Given the description of an element on the screen output the (x, y) to click on. 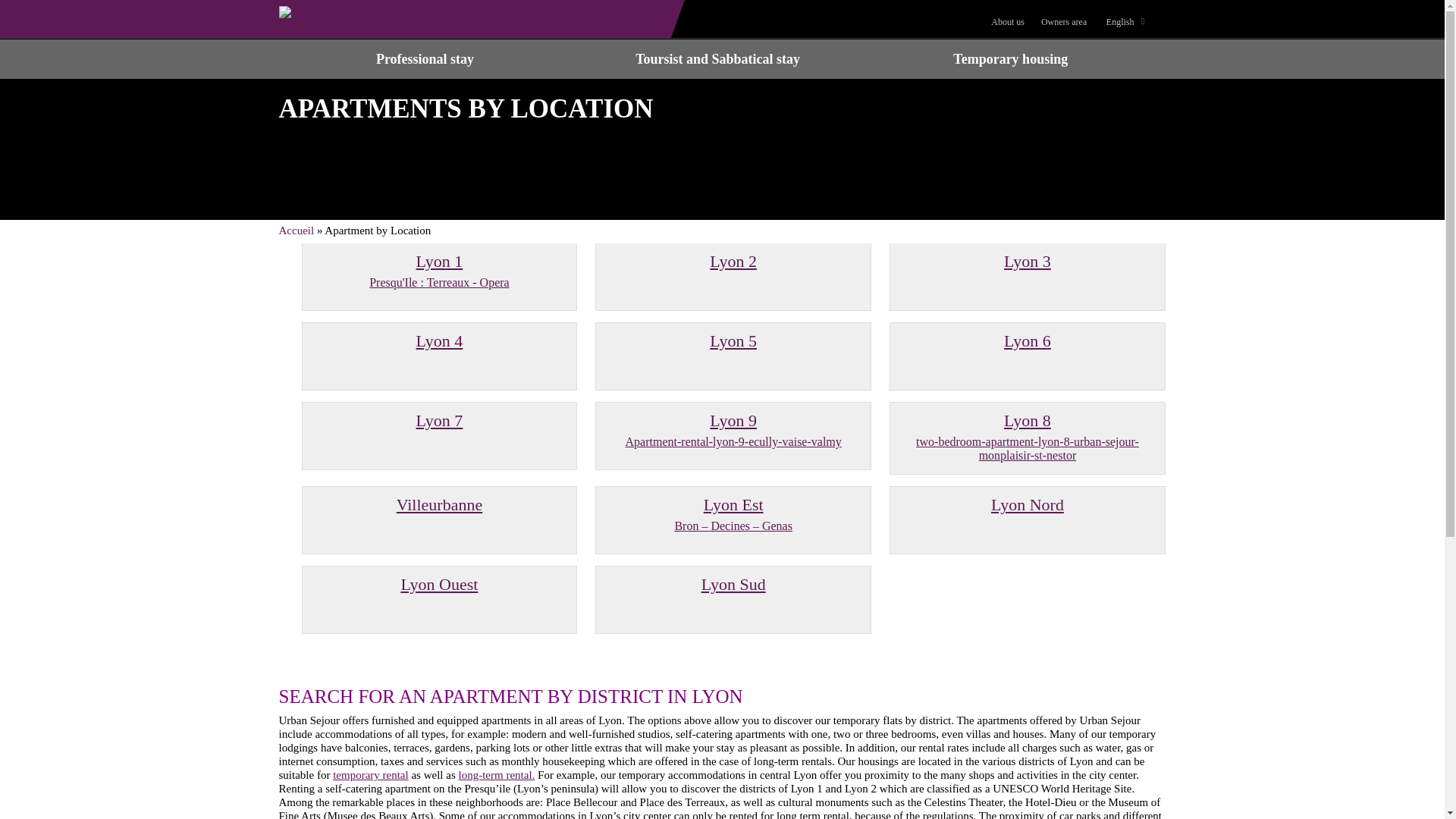
Lyon 4 (440, 341)
Villeurbanne (440, 504)
Lyon Sud (733, 584)
Lyon 5 (440, 271)
English (733, 341)
Lyon Nord (1124, 21)
Professional stay (1027, 504)
Lyon 2 (424, 58)
